Given the description of an element on the screen output the (x, y) to click on. 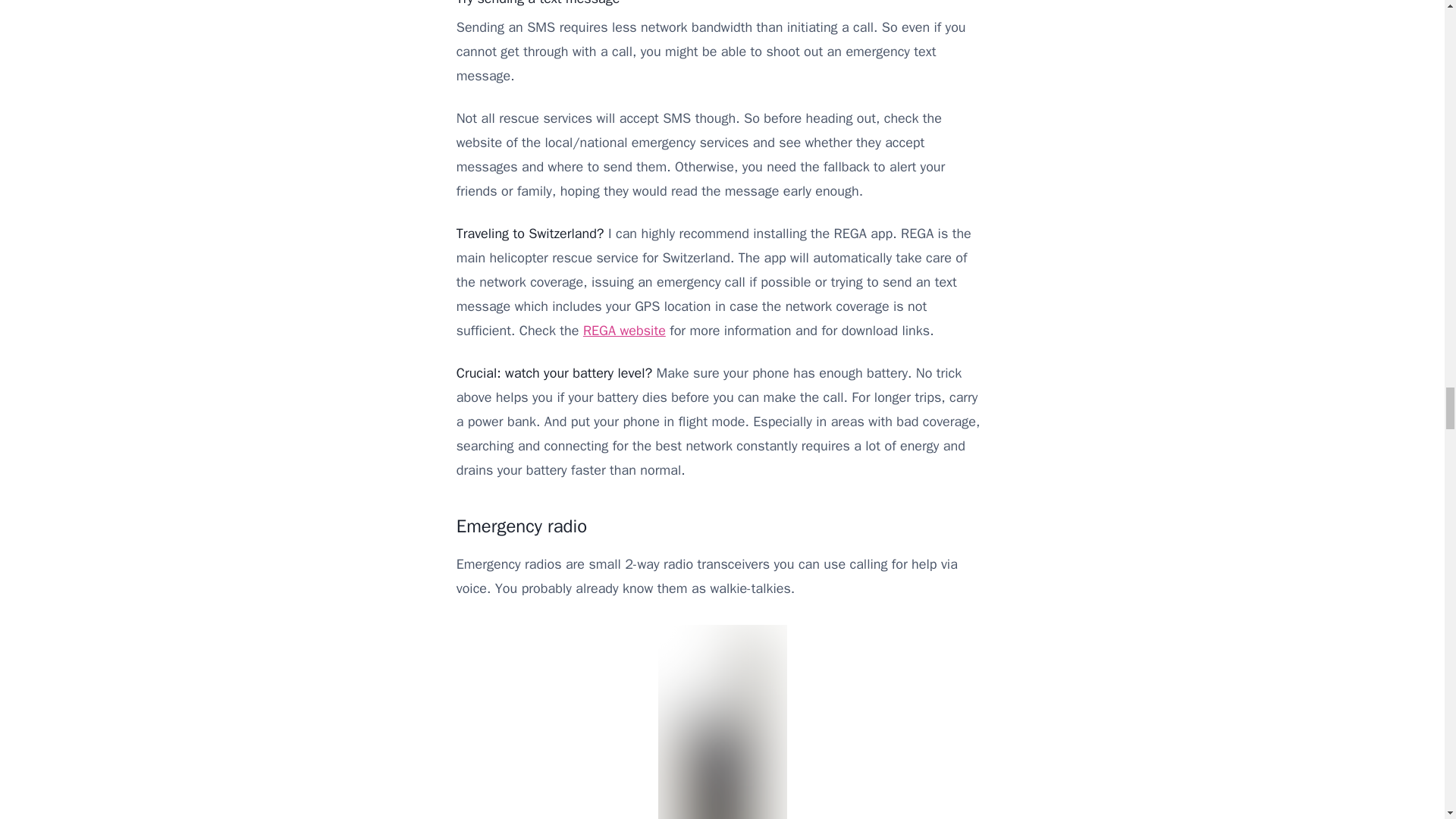
Motorola Talkabout T82 Extreme (722, 721)
REGA website (624, 330)
